Given the description of an element on the screen output the (x, y) to click on. 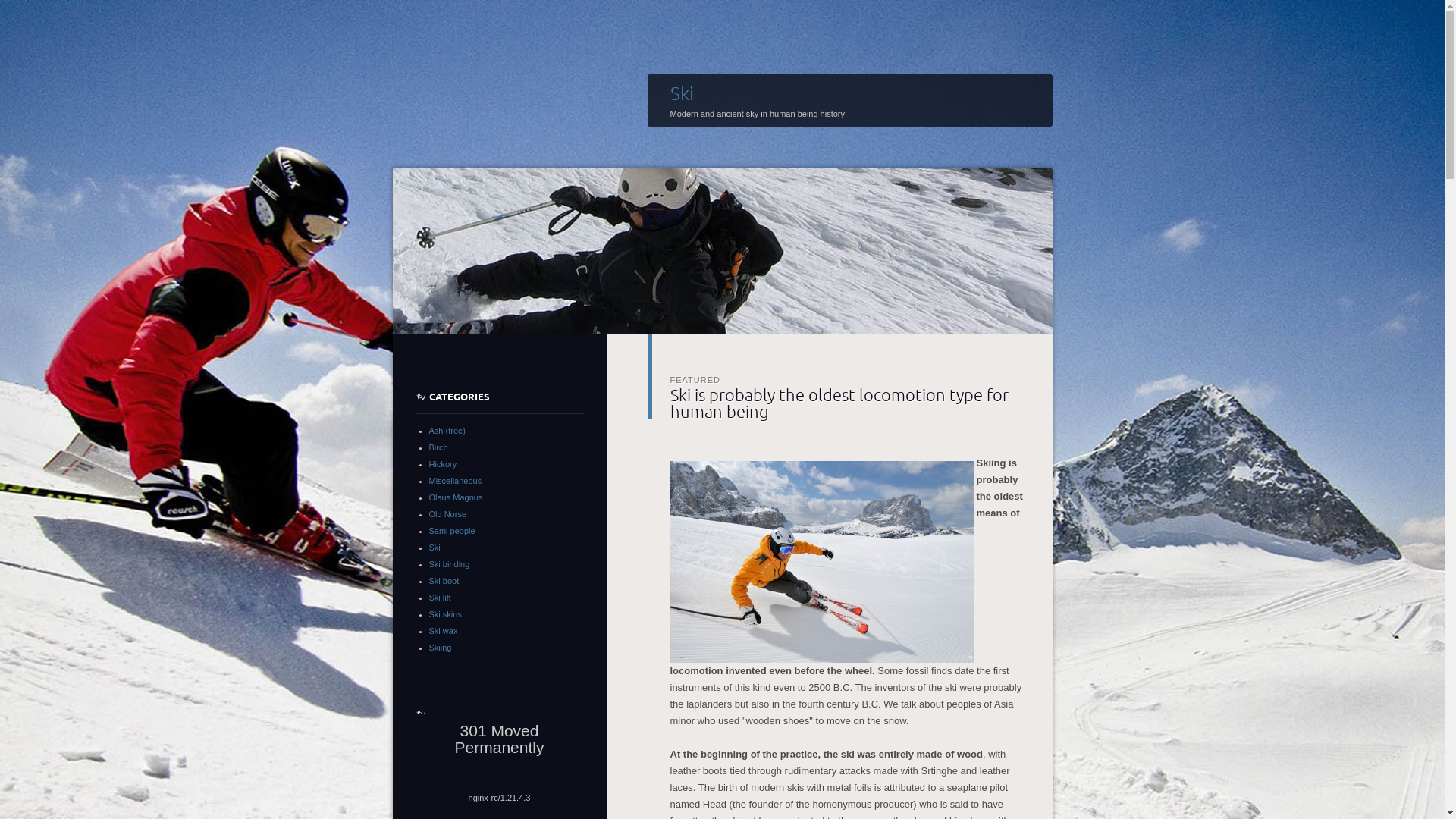
Birch Element type: text (438, 446)
Old Norse Element type: text (448, 513)
Ash (tree) Element type: text (447, 430)
Ski lift Element type: text (440, 597)
Hickory Element type: text (443, 463)
Ski Element type: text (681, 92)
Miscellaneous Element type: text (455, 480)
Ski binding Element type: text (449, 563)
Skiing Element type: text (440, 647)
Ski Element type: text (434, 547)
Sami people Element type: text (452, 530)
Ski is probably the oldest locomotion type for human being Element type: text (839, 401)
Ski boot Element type: text (444, 580)
Ski wax Element type: text (443, 630)
Ski skins Element type: text (445, 613)
Olaus Magnus Element type: text (456, 497)
